Given the description of an element on the screen output the (x, y) to click on. 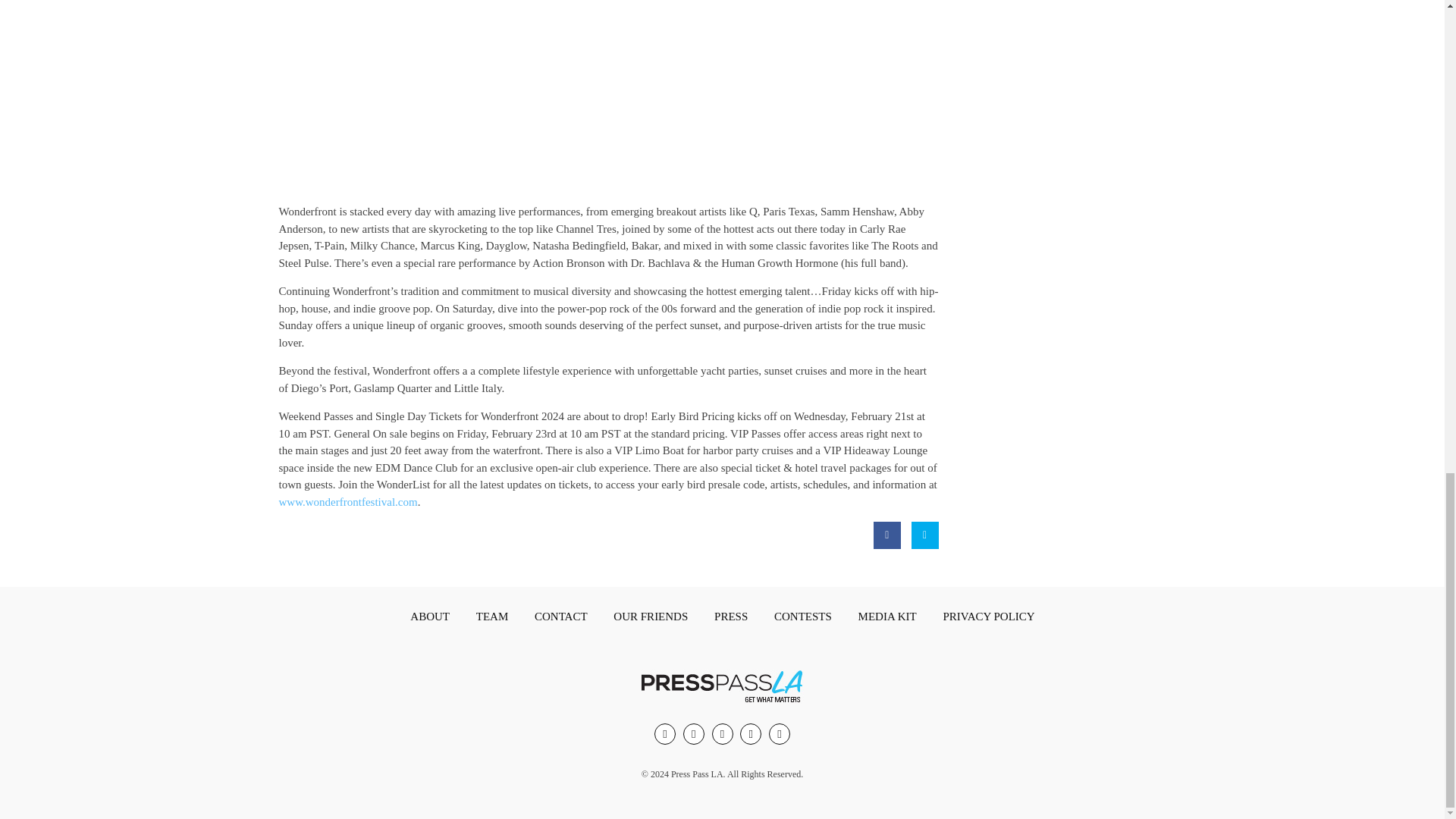
CONTACT (561, 617)
ABOUT (430, 617)
www.wonderfrontfestival.com (348, 501)
TEAM (492, 617)
